Given the description of an element on the screen output the (x, y) to click on. 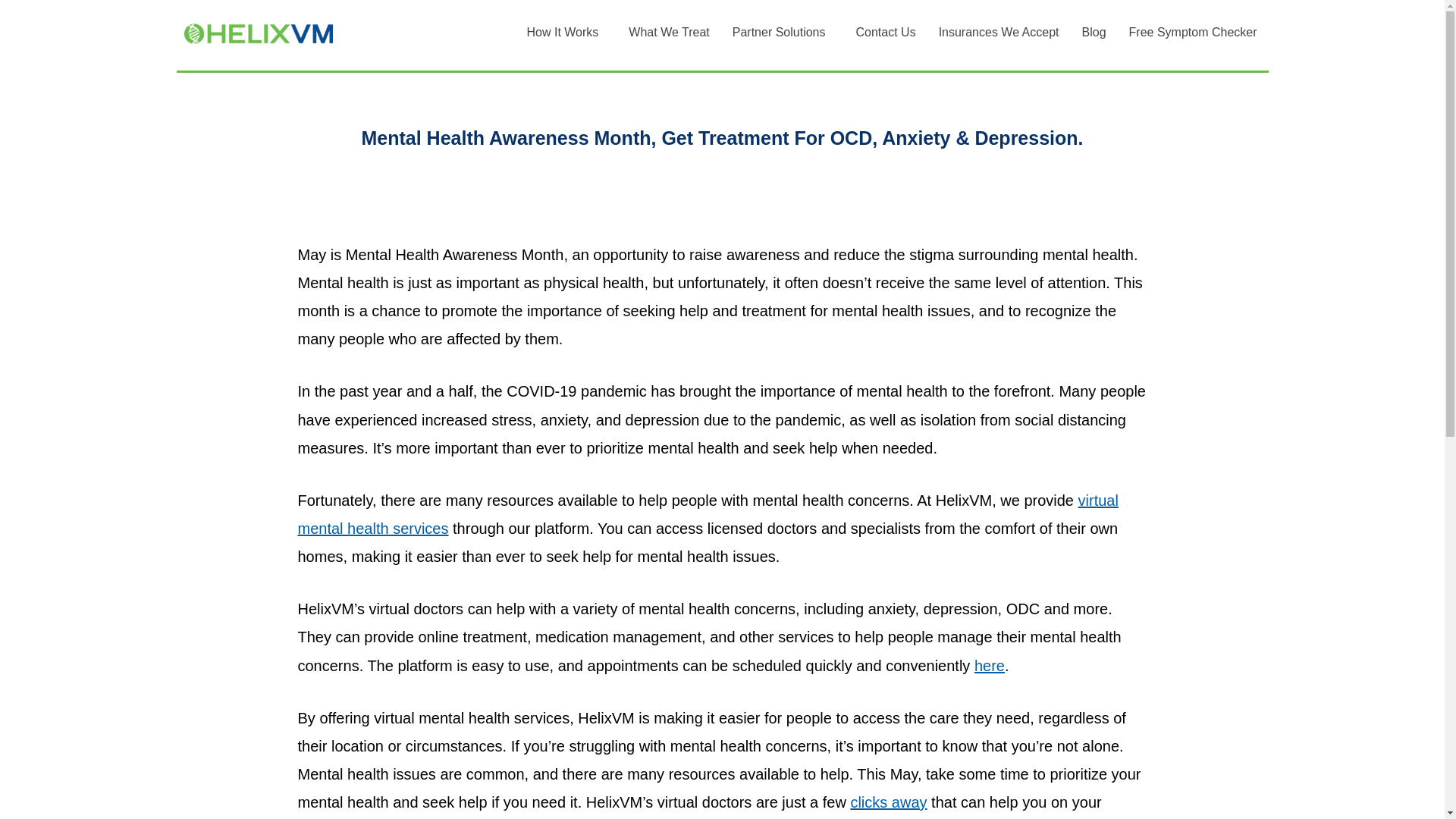
Partner Solutions (782, 32)
Contact Us (885, 32)
here (989, 665)
How It Works (566, 32)
virtual mental health services (707, 514)
Free Symptom Checker (1193, 32)
Blog (1094, 32)
clicks away (888, 801)
Insurances We Accept (998, 32)
What We Treat (668, 32)
